Given the description of an element on the screen output the (x, y) to click on. 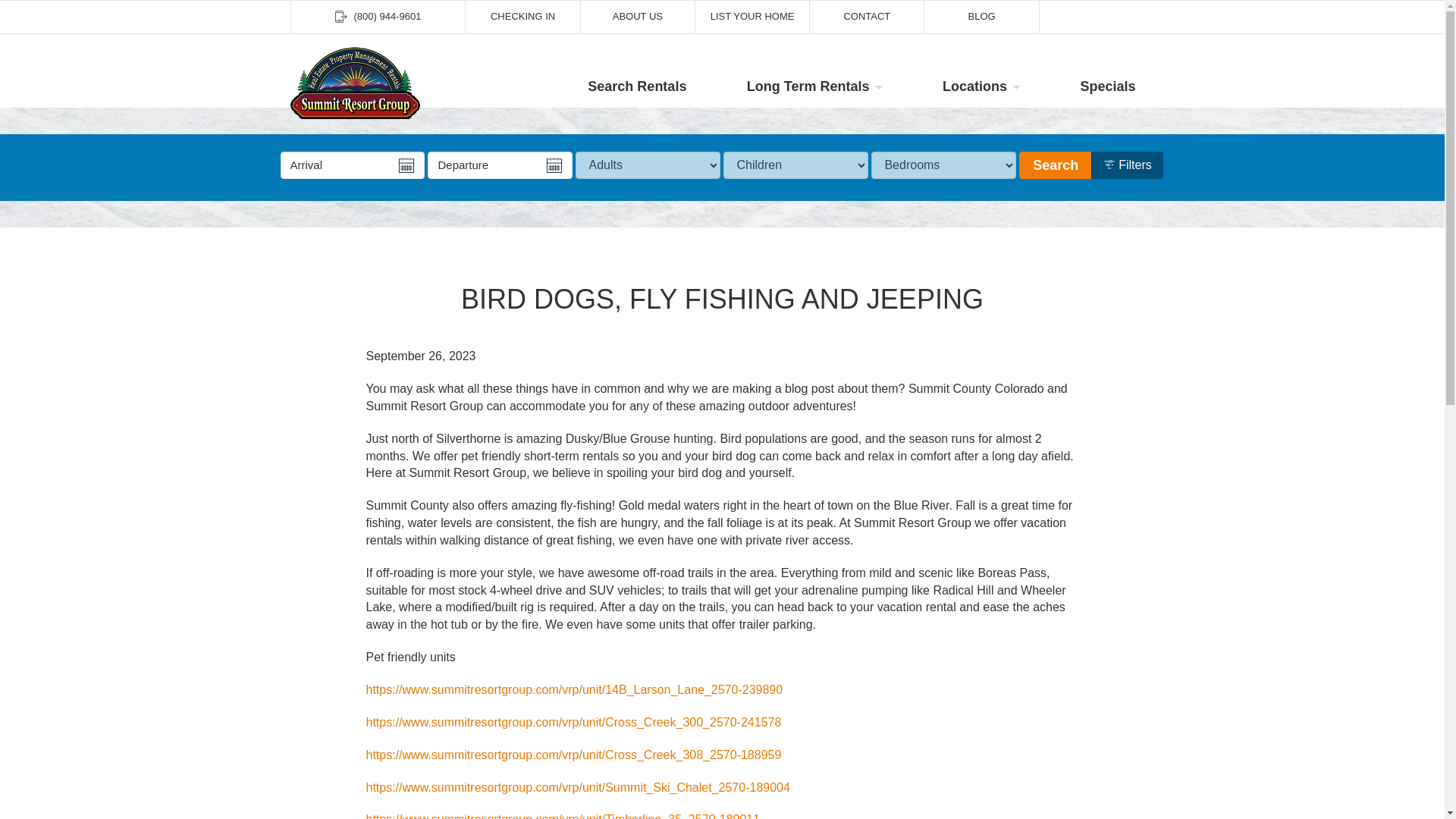
Locations (981, 87)
Long Term Rentals (814, 87)
ABOUT US (637, 16)
Filters (1126, 165)
CHECKING IN (522, 16)
LIST YOUR HOME (752, 16)
Specials (1107, 87)
Search Rentals (636, 87)
Search (1055, 165)
Advanced Search Filters (1126, 165)
CONTACT (866, 16)
